Given the description of an element on the screen output the (x, y) to click on. 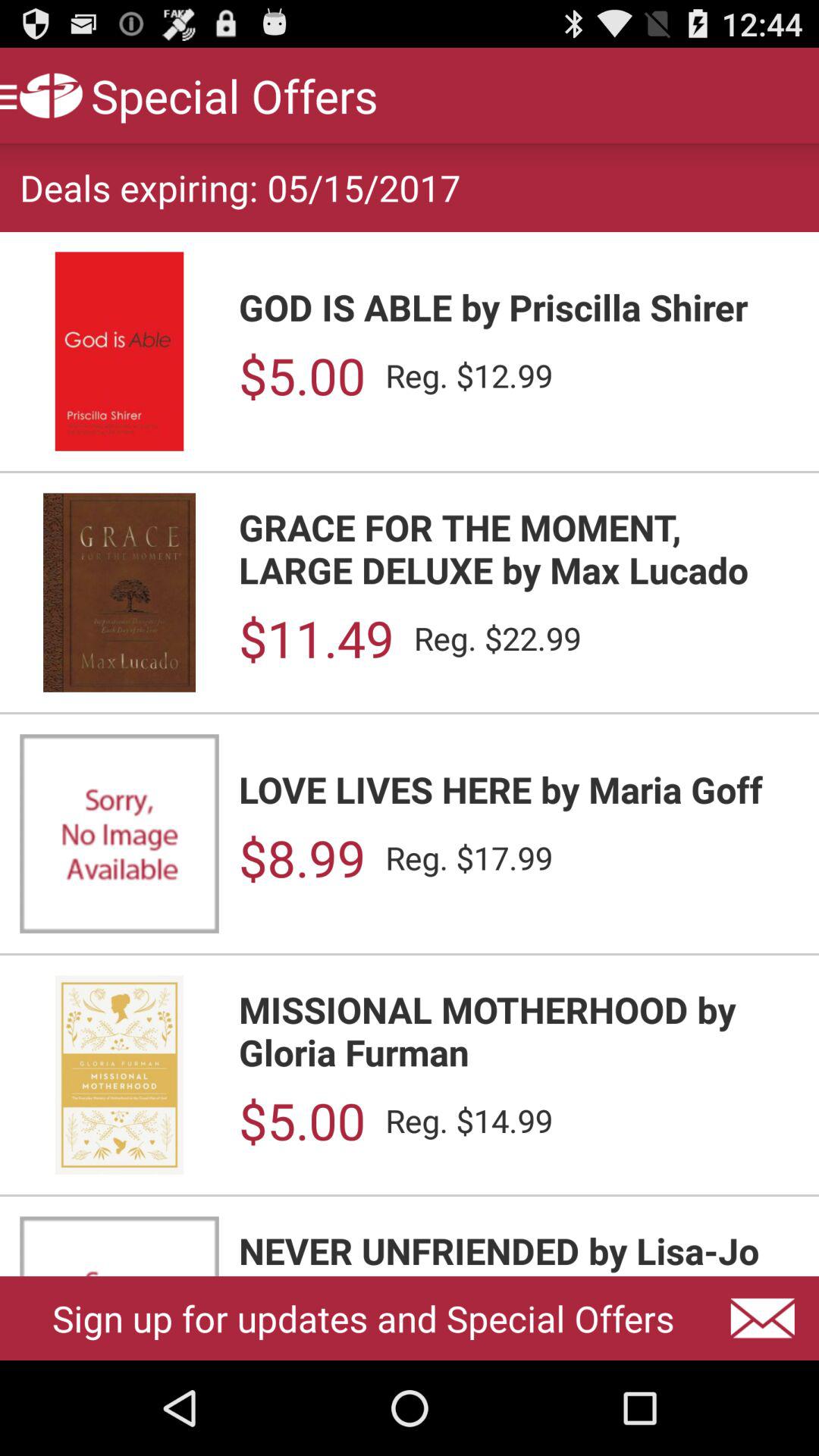
scroll until the god is able icon (518, 306)
